Given the description of an element on the screen output the (x, y) to click on. 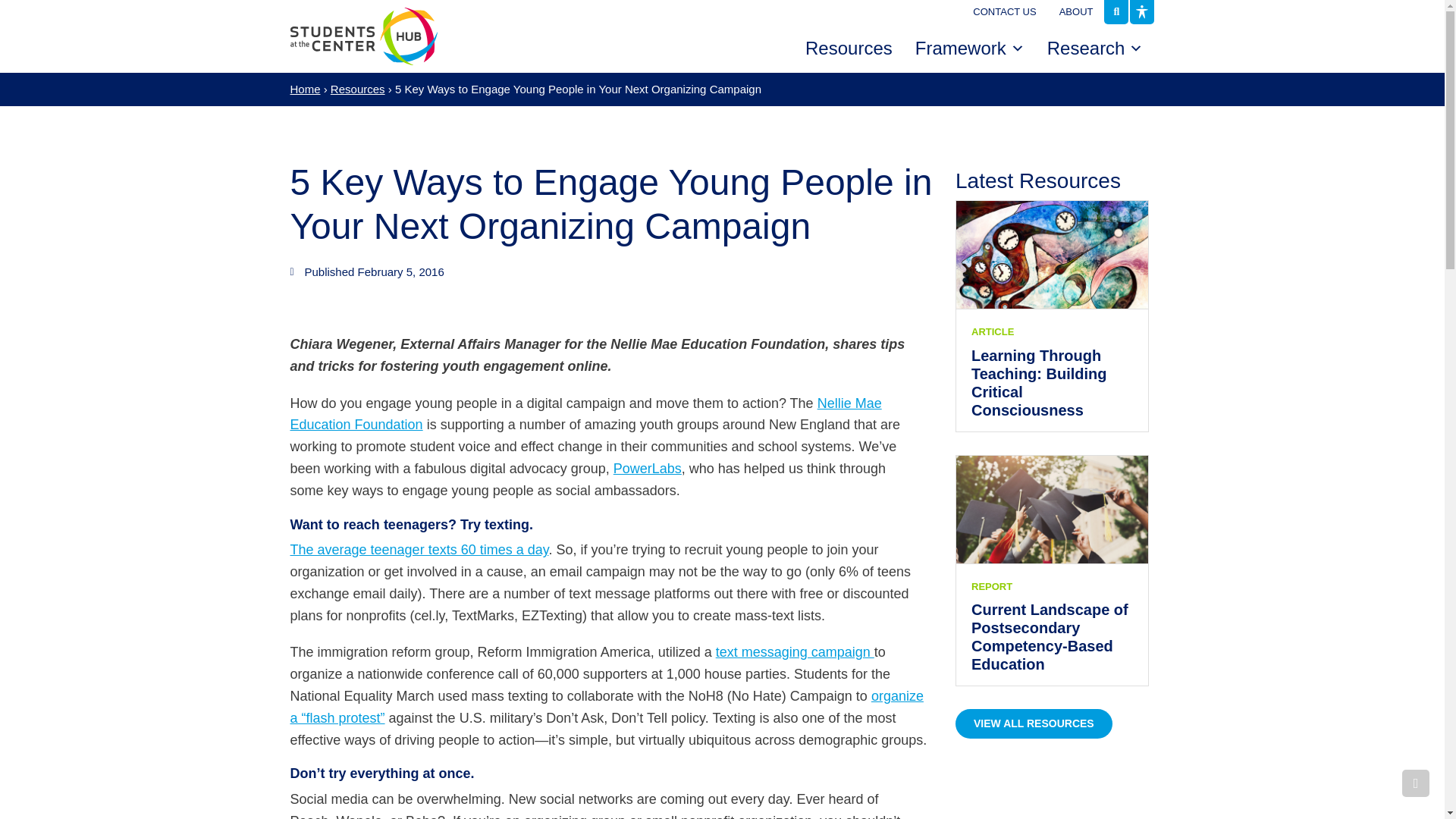
Resources (848, 48)
PowerLabs (646, 468)
text messaging campaign  (795, 652)
Go to Resources. (357, 88)
The average teenager texts 60 times a day (418, 549)
CONTACT US (1003, 12)
Research (1094, 48)
Go to Students at the Center. (304, 88)
Framework (969, 48)
Nellie Mae Education Foundation (584, 414)
ABOUT (1076, 12)
Home (304, 88)
Resources (357, 88)
